Given the description of an element on the screen output the (x, y) to click on. 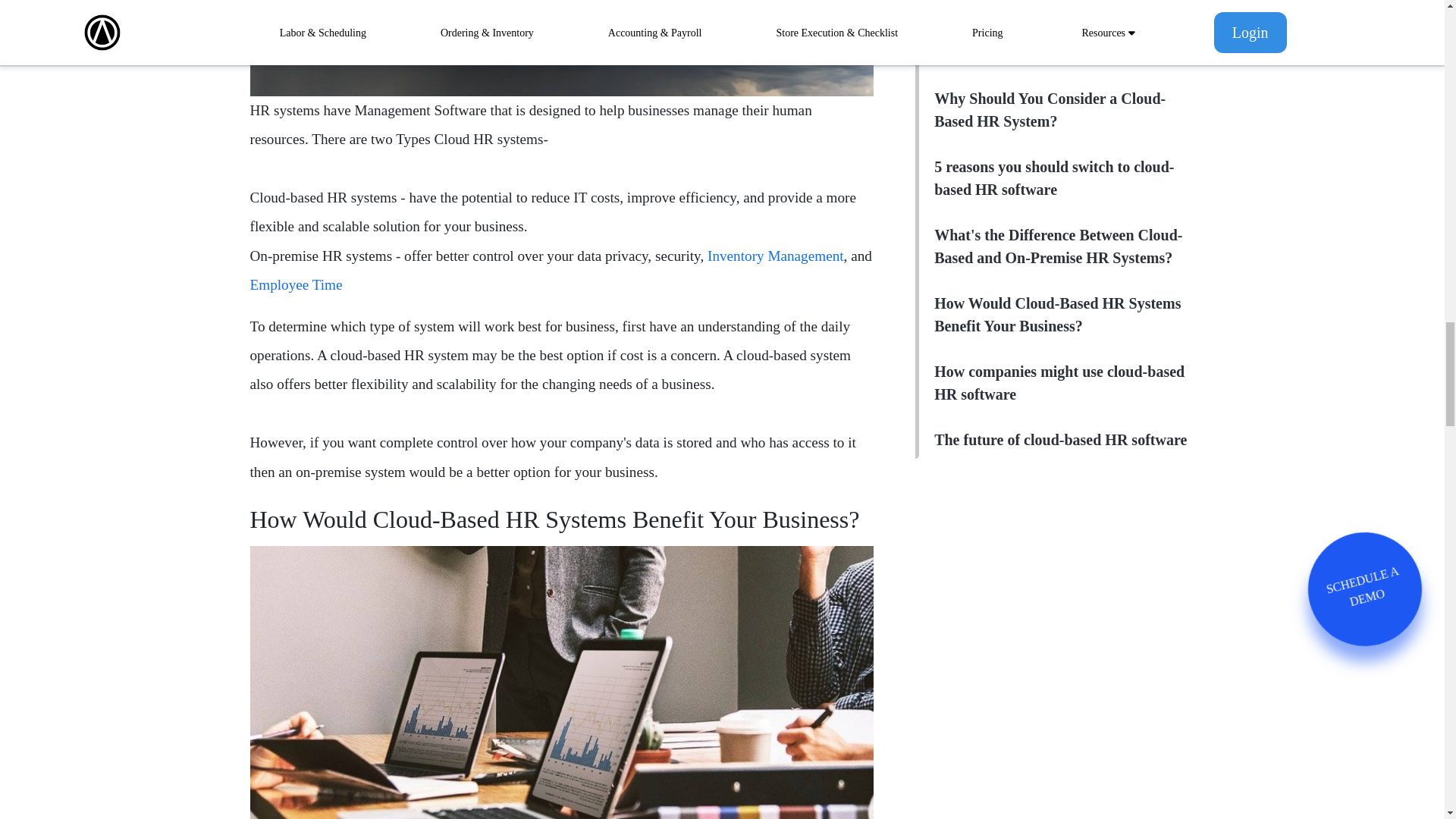
Inventory Management (775, 255)
Employee Time (296, 284)
